Given the description of an element on the screen output the (x, y) to click on. 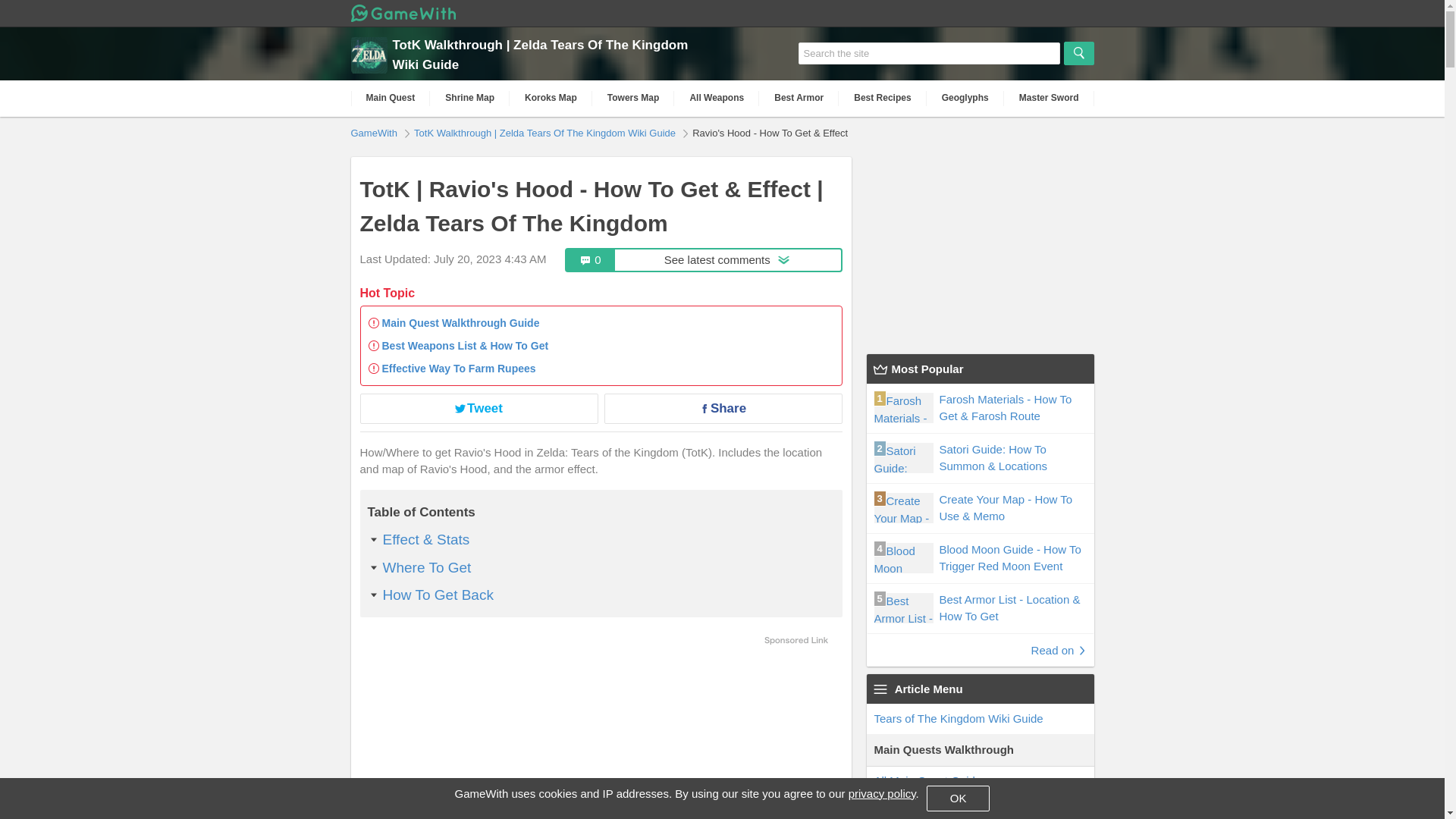
How To Get Back (437, 594)
Best Recipes (882, 98)
Main Quest Walkthrough Guide (460, 322)
GameWith (703, 259)
Best Armor (375, 132)
Master Sword (798, 98)
Where To Get (1049, 98)
Geoglyphs (425, 567)
privacy policy (965, 98)
Koroks Map (881, 793)
Tweet (550, 98)
Share (477, 408)
Towers Map (722, 408)
Shrine Map (633, 98)
